Given the description of an element on the screen output the (x, y) to click on. 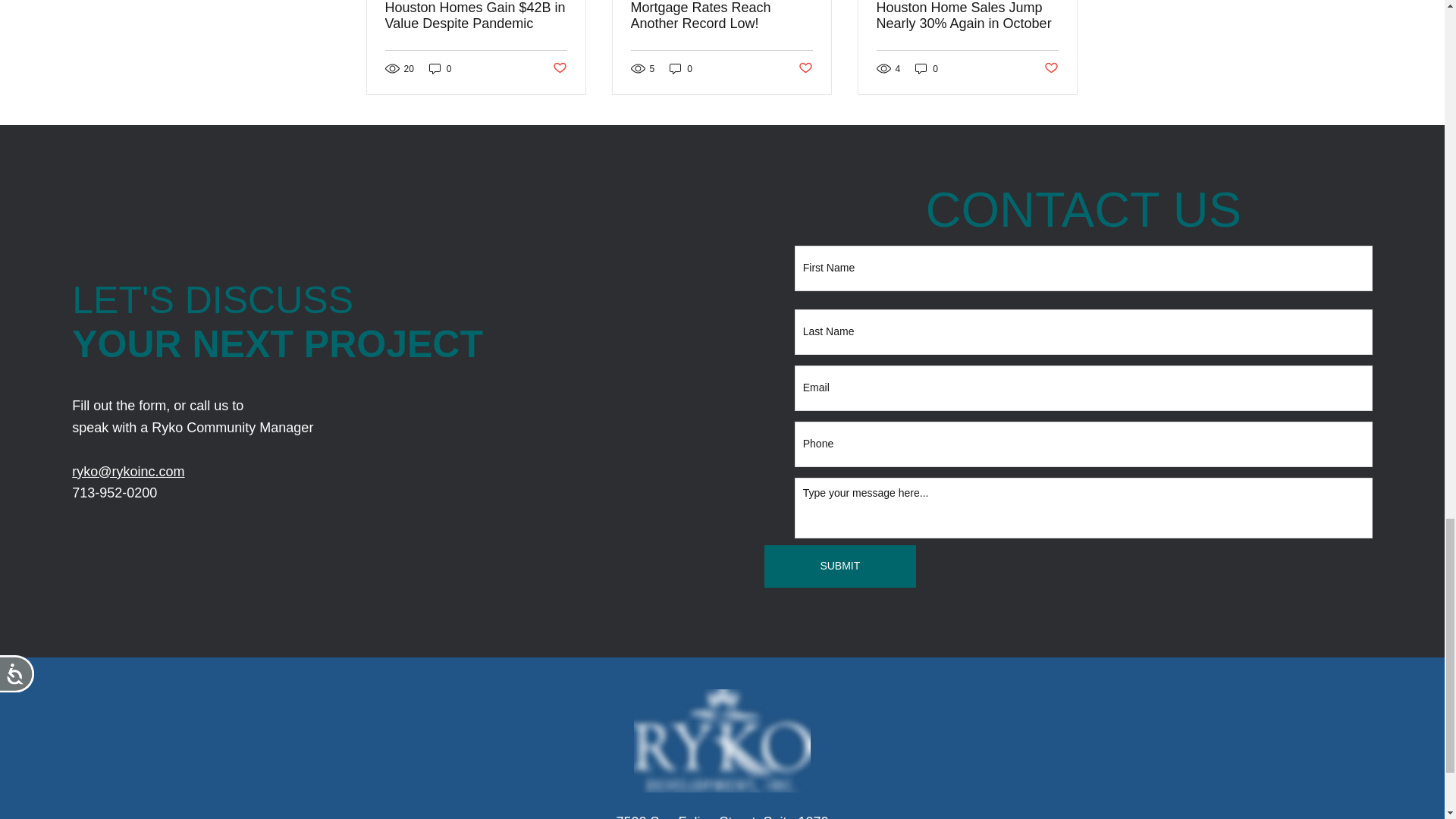
0 (926, 68)
Mortgage Rates Reach Another Record Low! (721, 15)
Post not marked as liked (558, 68)
Post not marked as liked (804, 68)
SUBMIT (839, 566)
Post not marked as liked (1050, 68)
0 (681, 68)
0 (440, 68)
